Given the description of an element on the screen output the (x, y) to click on. 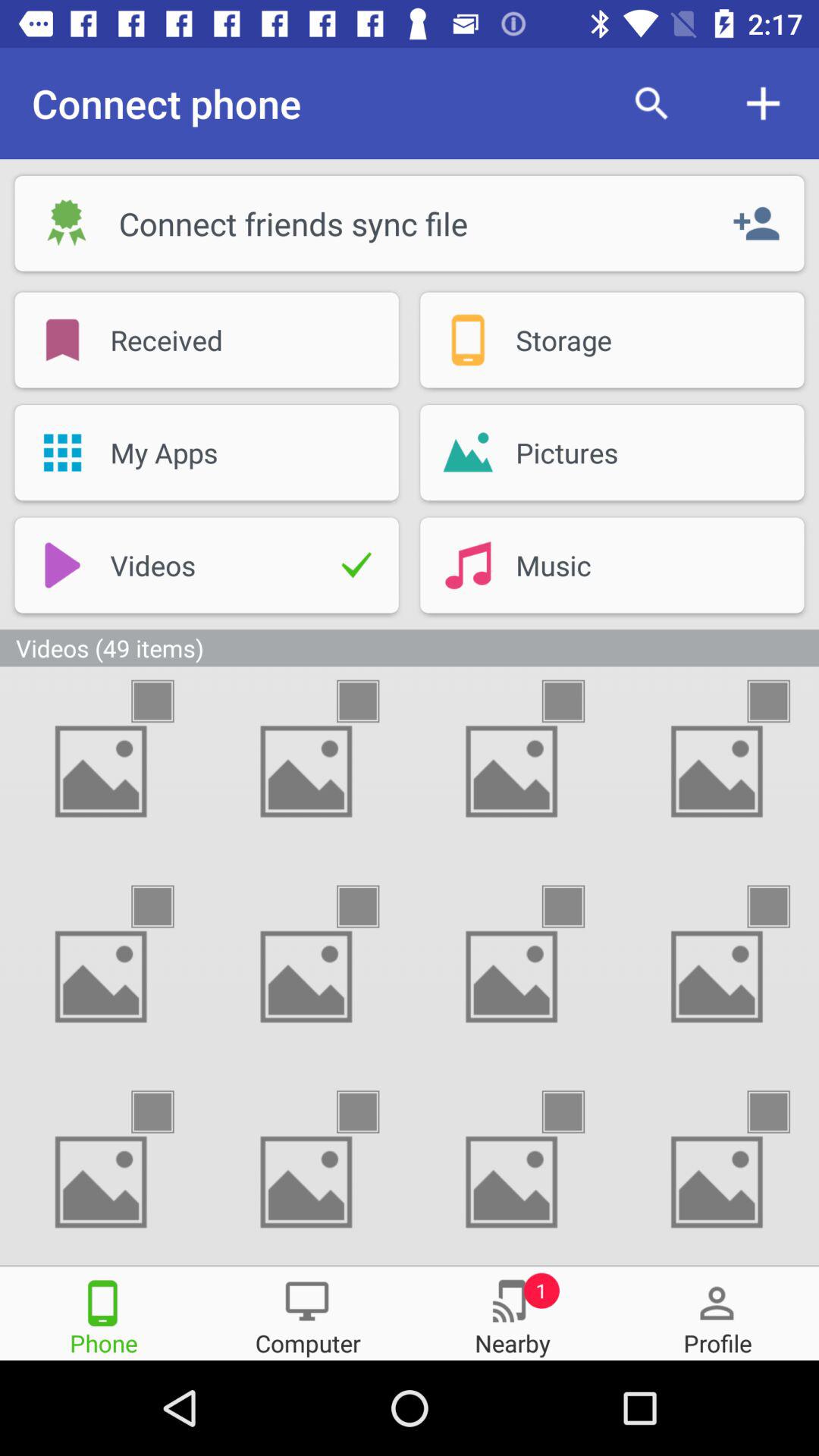
select an image (371, 1111)
